Given the description of an element on the screen output the (x, y) to click on. 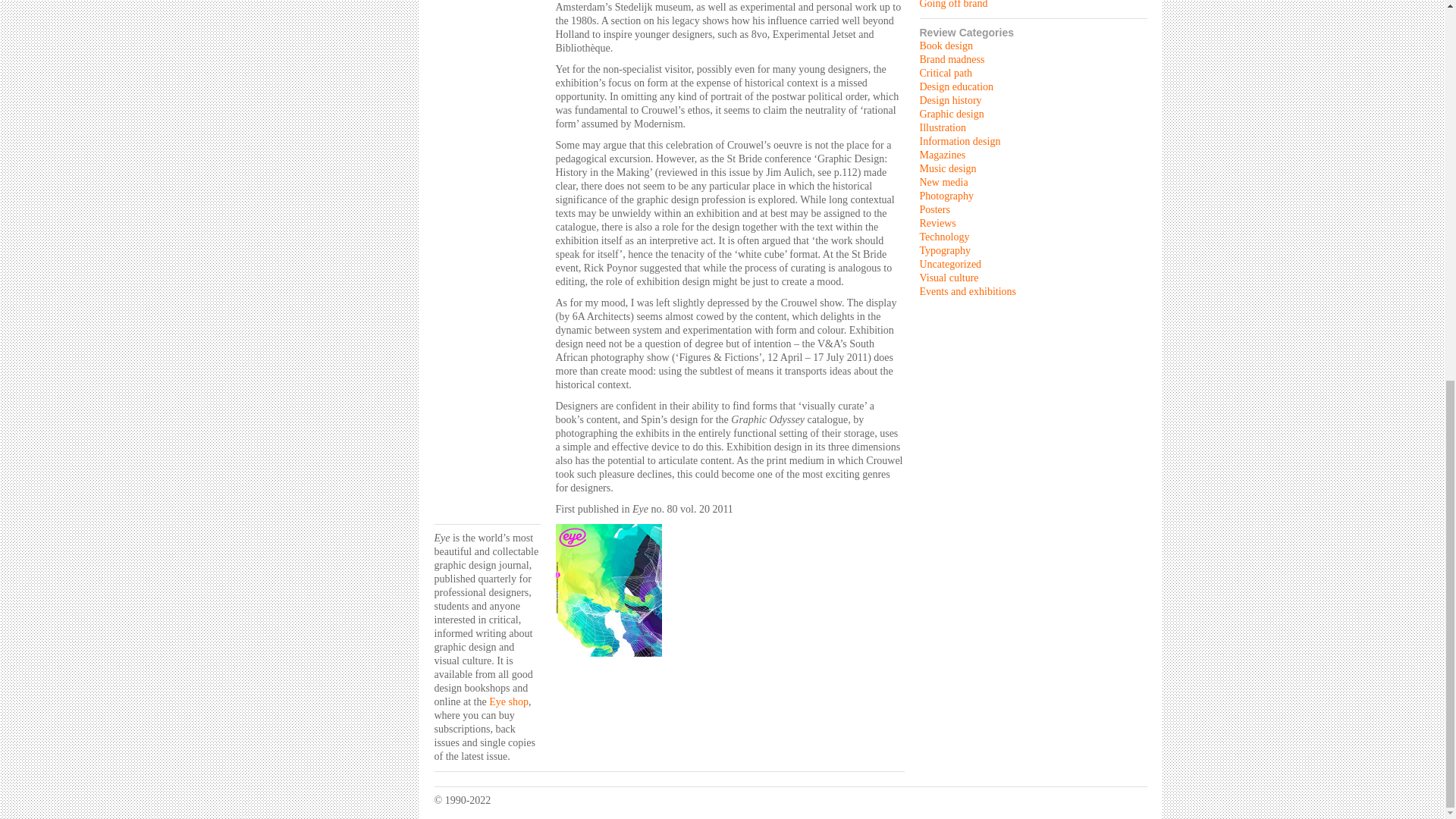
Design history (949, 100)
Critical path (945, 72)
Eye shop (508, 701)
Book design (945, 45)
Information design (959, 141)
Brand madness (951, 59)
Going off brand (952, 4)
EYE80 by Eye magazine, on Flickr (607, 660)
Design education (955, 86)
Graphic design (951, 113)
Illustration (941, 127)
